Given the description of an element on the screen output the (x, y) to click on. 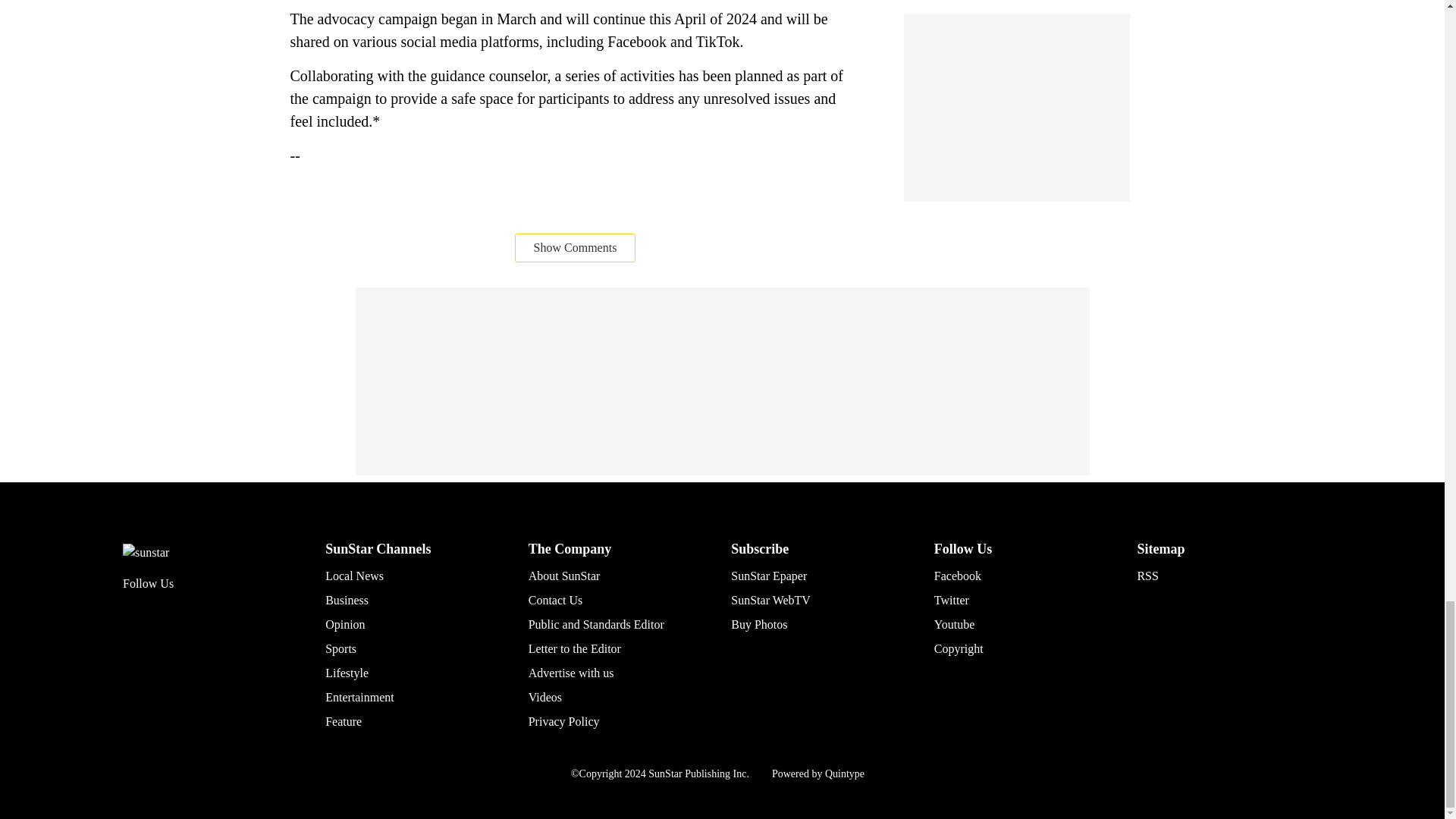
Business (346, 599)
Show Comments (575, 247)
Sports (340, 648)
Local News (354, 575)
Opinion (344, 624)
